Given the description of an element on the screen output the (x, y) to click on. 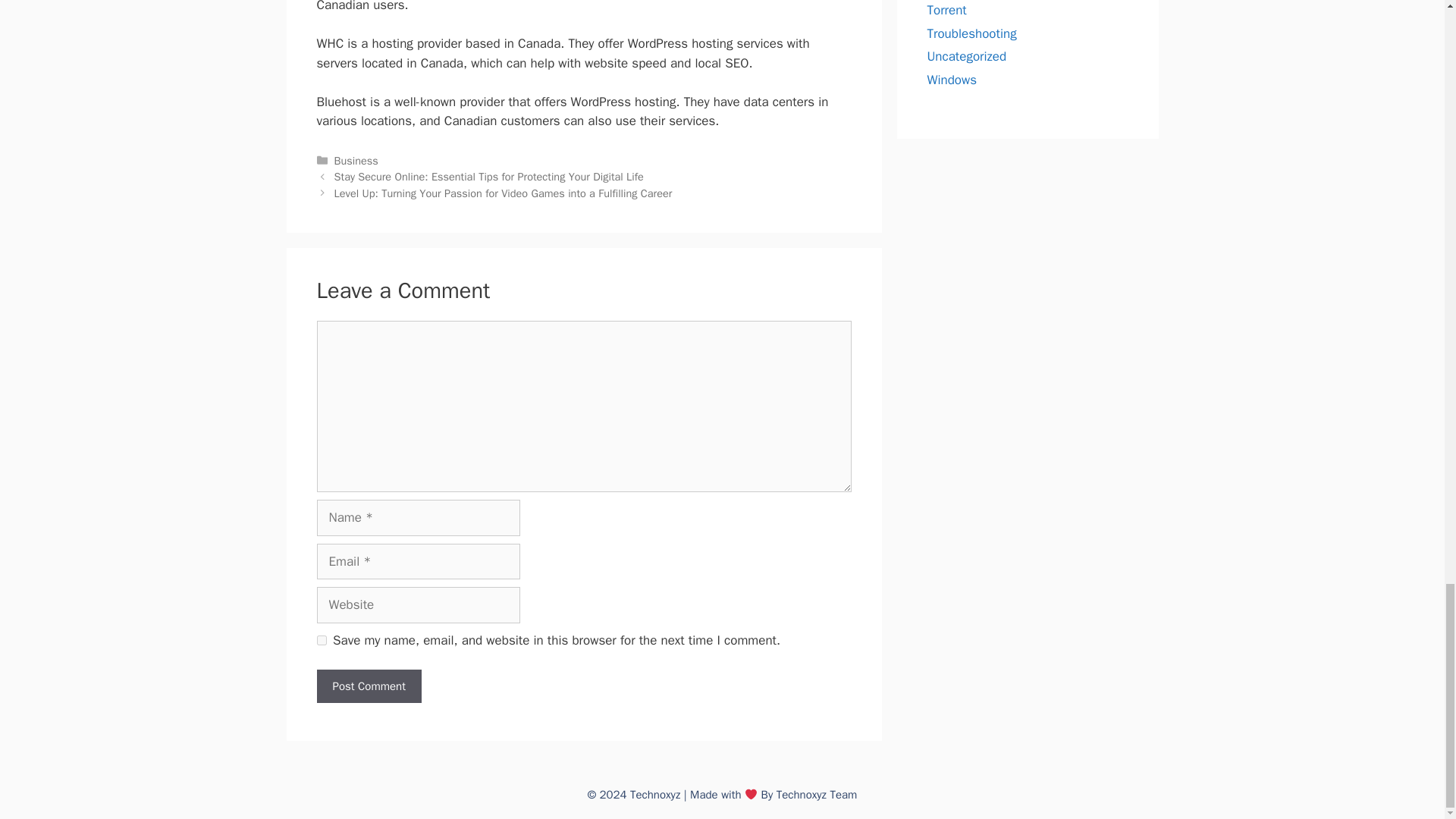
Business (356, 160)
Post Comment (369, 686)
Post Comment (369, 686)
yes (321, 640)
